Given the description of an element on the screen output the (x, y) to click on. 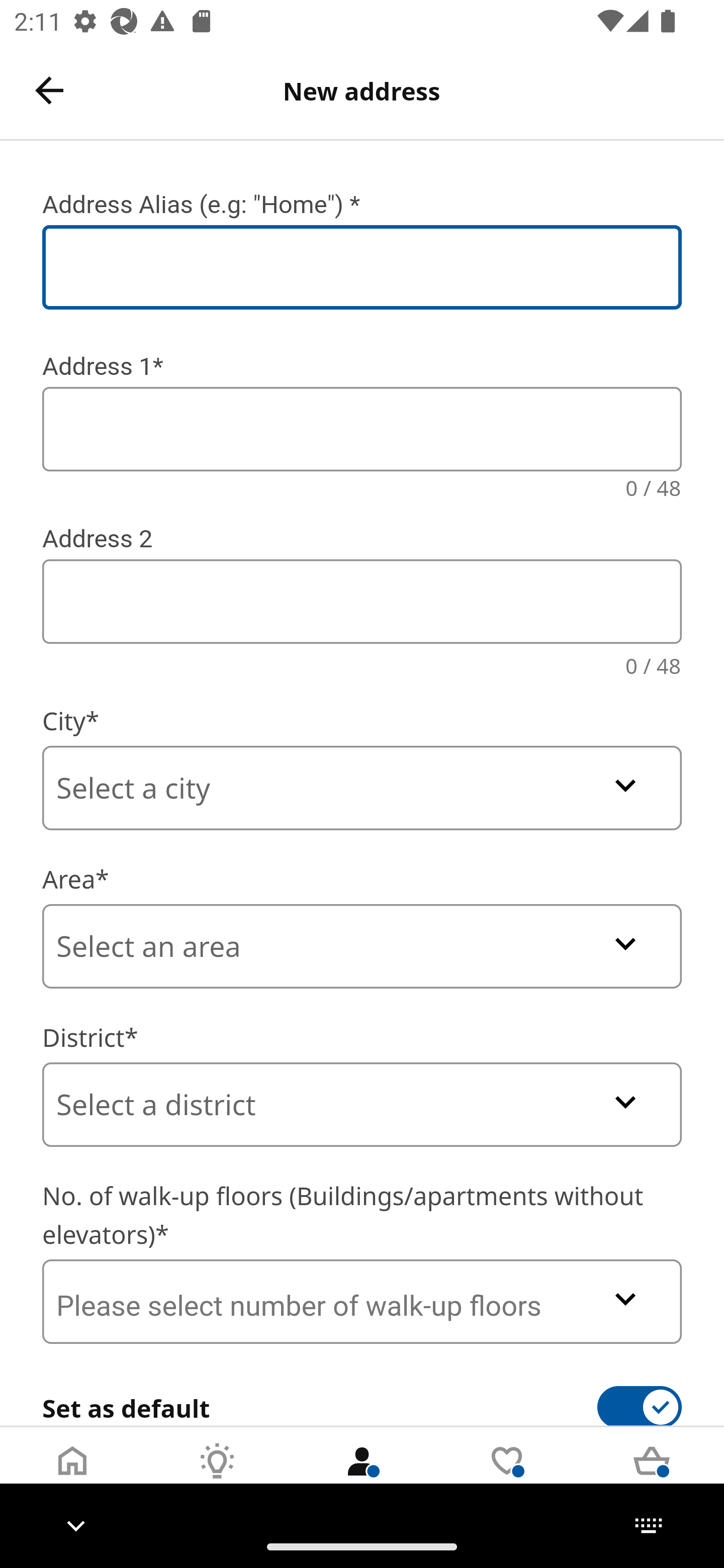
Select a city (361, 787)
Please select number of walk-up floors (361, 1301)
Home
Tab 1 of 5 (72, 1476)
Inspirations
Tab 2 of 5 (216, 1476)
User
Tab 3 of 5 (361, 1476)
Wishlist
Tab 4 of 5 (506, 1476)
Cart
Tab 5 of 5 (651, 1476)
